Given the description of an element on the screen output the (x, y) to click on. 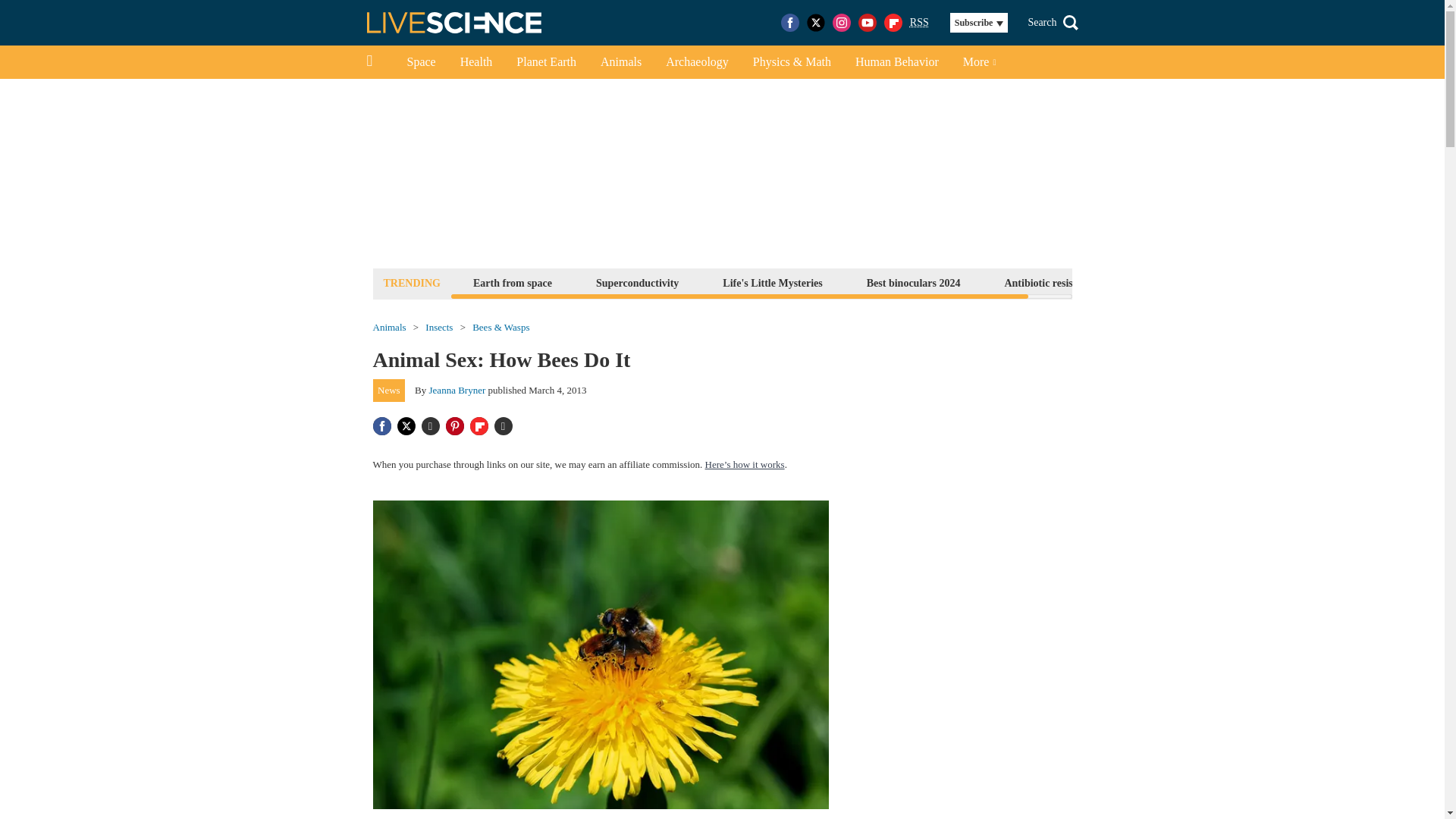
Space (420, 61)
Earth from space (512, 282)
News (389, 390)
Human Behavior (896, 61)
Life's Little Mysteries (772, 282)
Animals (389, 327)
Animals (620, 61)
Planet Earth (545, 61)
Archaeology (697, 61)
Best binoculars 2024 (913, 282)
